Given the description of an element on the screen output the (x, y) to click on. 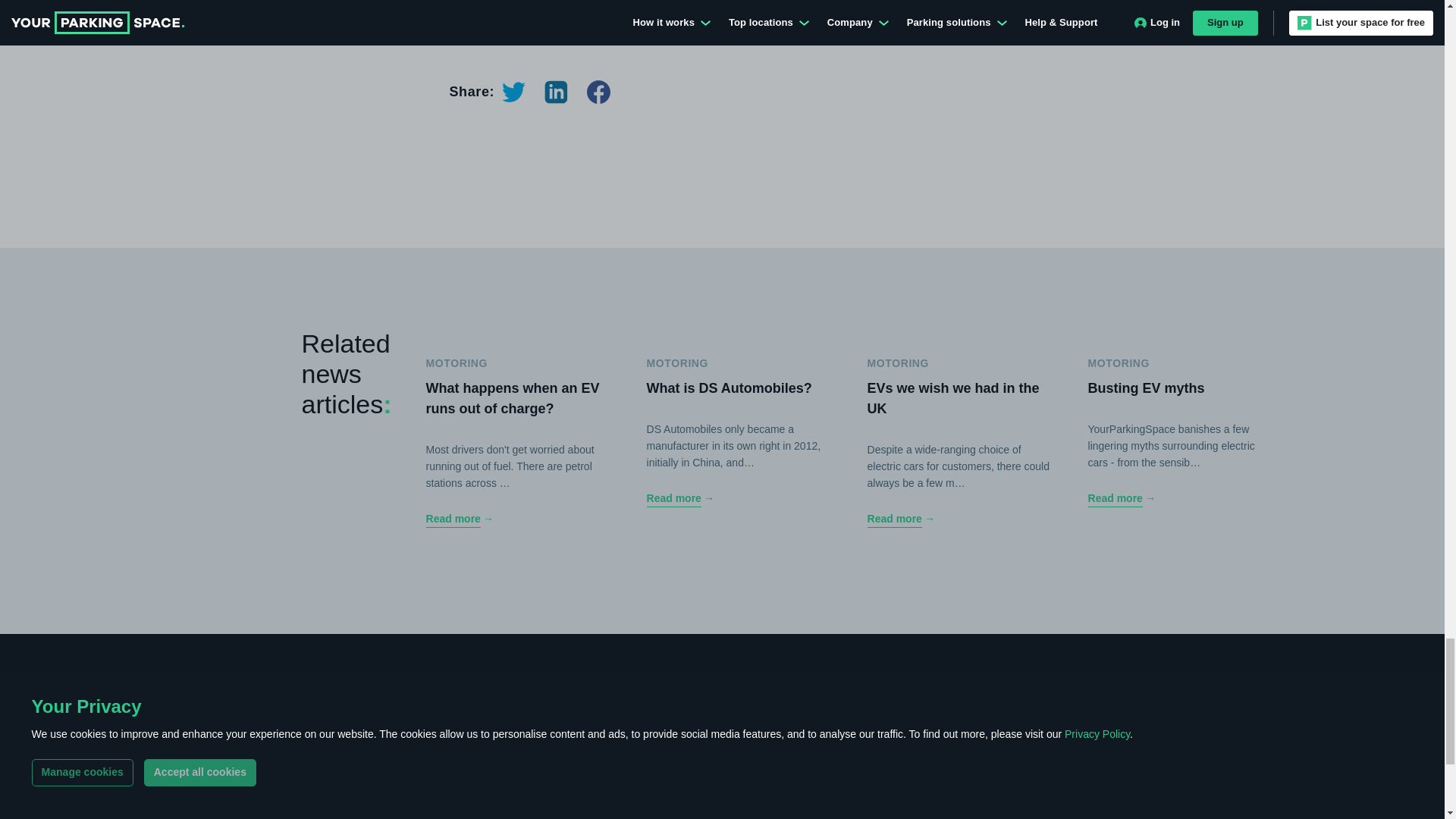
Busting EV myths (1179, 498)
What happens when an EV runs out of charge? (517, 519)
What is DS Automobiles? (737, 498)
EVs we wish we had in the UK (958, 519)
